Given the description of an element on the screen output the (x, y) to click on. 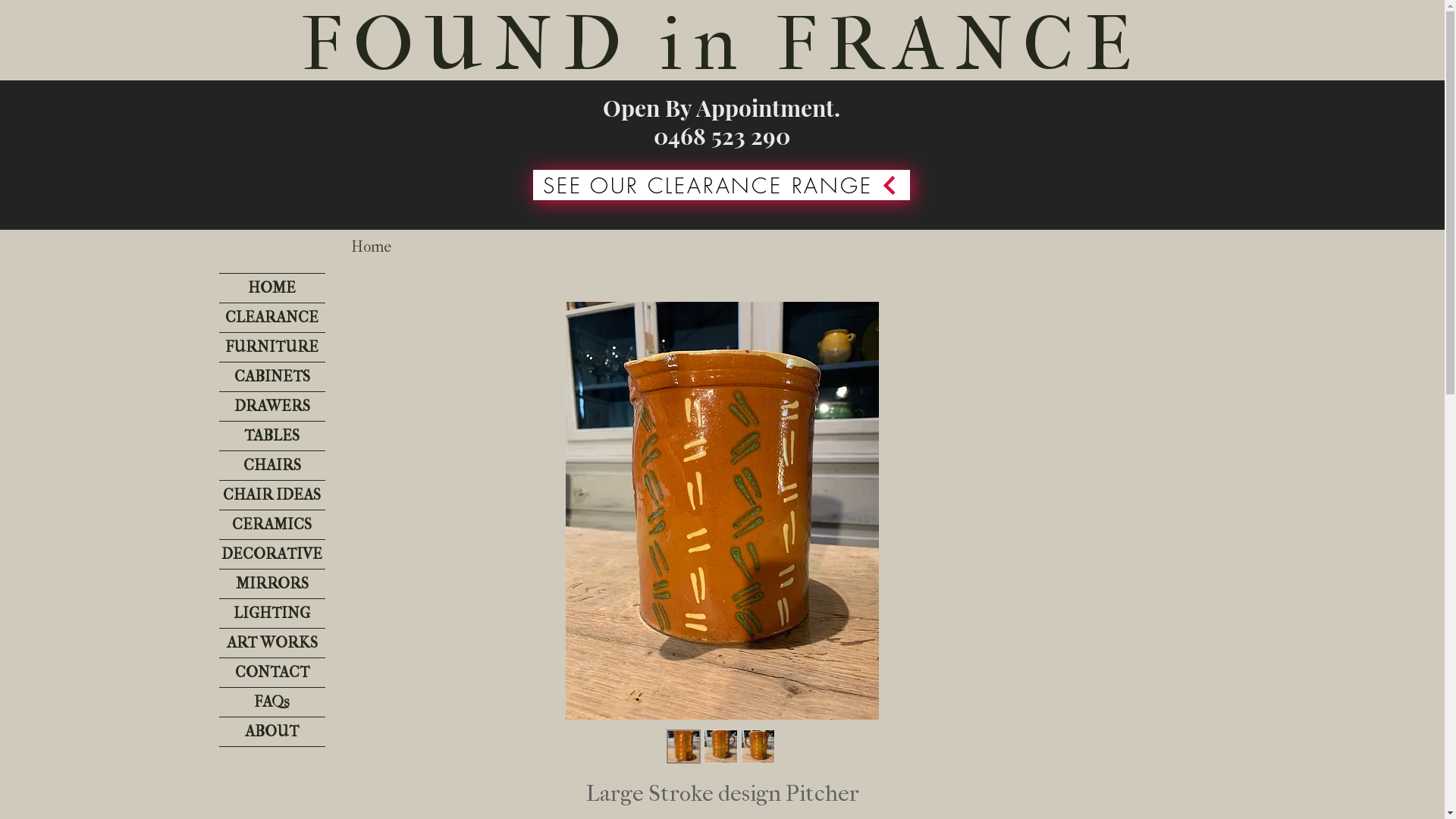
DRAWERS Element type: text (271, 406)
SEE OUR CLEARANCE RANGE Element type: text (720, 184)
Home Element type: text (370, 246)
CONTACT Element type: text (271, 672)
MIRRORS Element type: text (271, 583)
ABOUT Element type: text (271, 731)
ART WORKS Element type: text (271, 642)
CLEARANCE Element type: text (271, 317)
FURNITURE Element type: text (271, 346)
DECORATIVE Element type: text (271, 553)
TABLES Element type: text (271, 435)
CABINETS Element type: text (271, 376)
LIGHTING Element type: text (271, 613)
FAQs Element type: text (271, 701)
CHAIRS Element type: text (271, 465)
CERAMICS Element type: text (271, 524)
HOME Element type: text (271, 287)
CHAIR IDEAS Element type: text (271, 494)
